Given the description of an element on the screen output the (x, y) to click on. 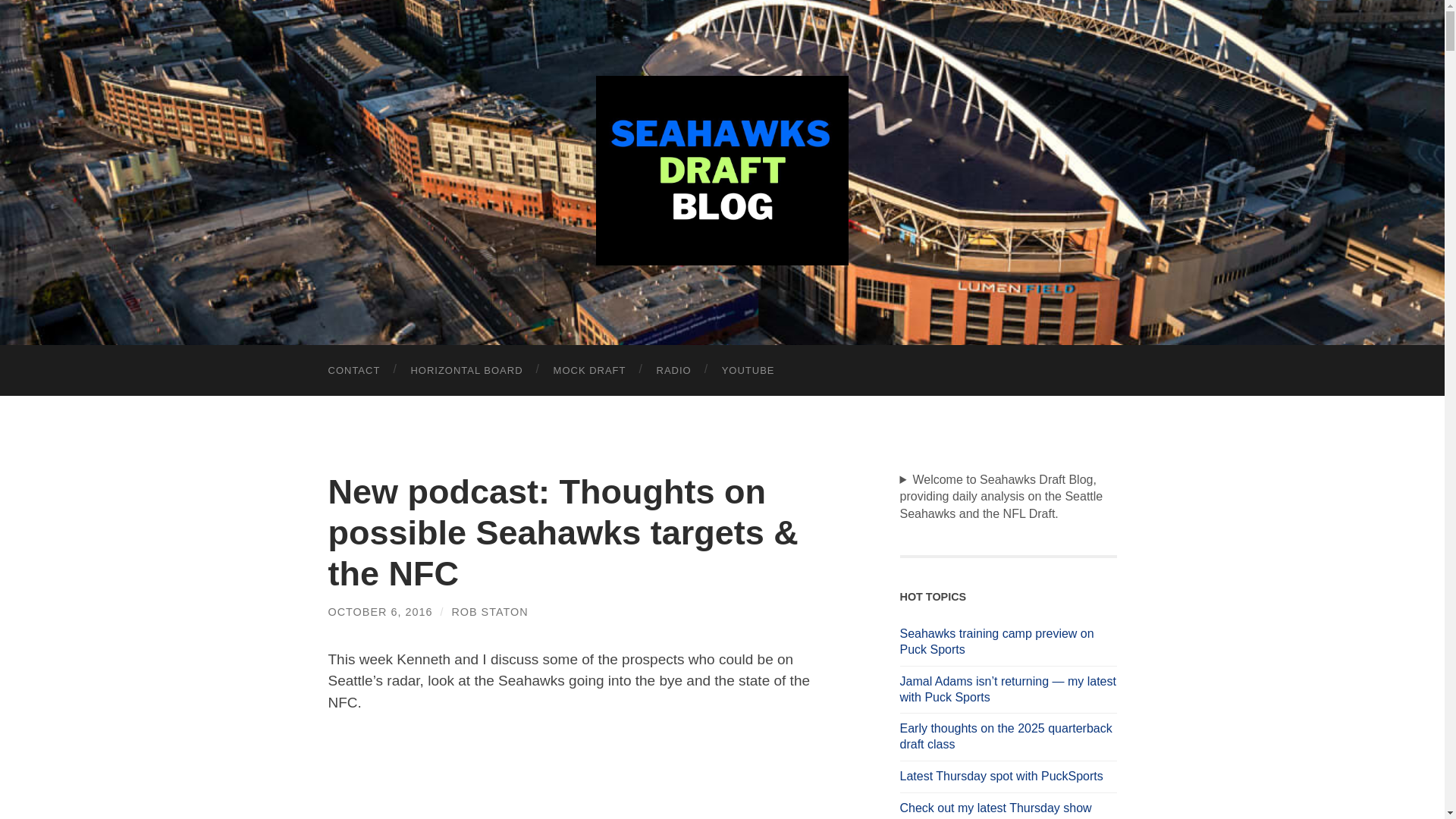
Latest Thursday spot with PuckSports (1007, 776)
Seahawks Draft Blog (721, 170)
MOCK DRAFT (590, 369)
Seahawks training camp preview on Puck Sports (1007, 642)
RADIO (674, 369)
Early thoughts on the 2025 quarterback draft class (1007, 736)
Check out my latest Thursday show with PuckSports (1007, 809)
ROB STATON (489, 612)
HORIZONTAL BOARD (465, 369)
OCTOBER 6, 2016 (379, 612)
Posts by Rob Staton (489, 612)
YOUTUBE (748, 369)
CONTACT (353, 369)
